Given the description of an element on the screen output the (x, y) to click on. 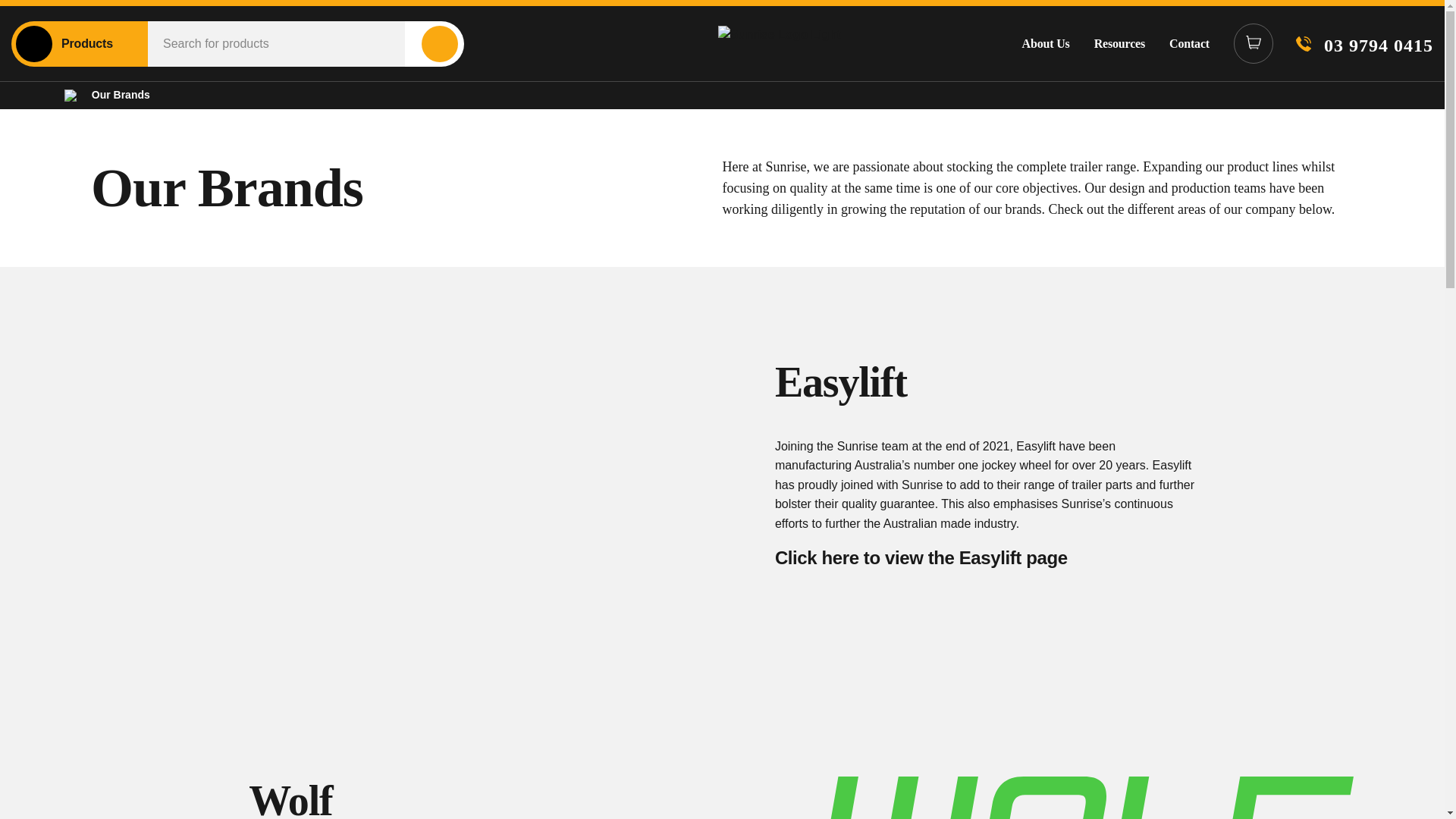
Resources (1119, 43)
Click here to view the Easylift page (920, 557)
Sunrise Logo Light (779, 43)
Contact (1189, 43)
Wolf Text Green (1090, 797)
About Us (1045, 43)
